Given the description of an element on the screen output the (x, y) to click on. 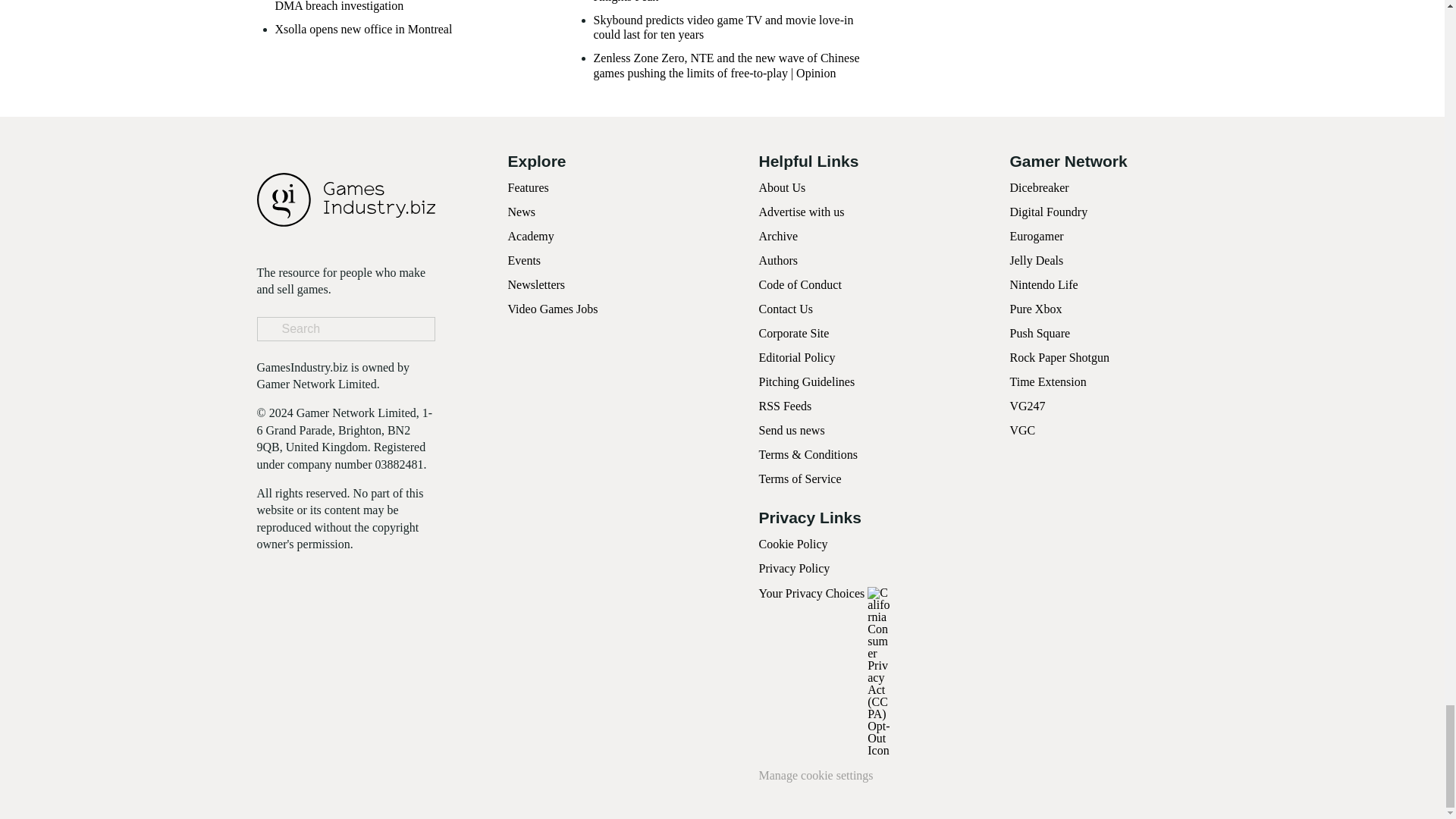
Newsletters (537, 284)
News (521, 211)
Features (528, 187)
Archive (777, 236)
Academy (531, 236)
About Us (781, 187)
Advertise with us (801, 211)
Events (524, 259)
Video Games Jobs (553, 308)
